Given the description of an element on the screen output the (x, y) to click on. 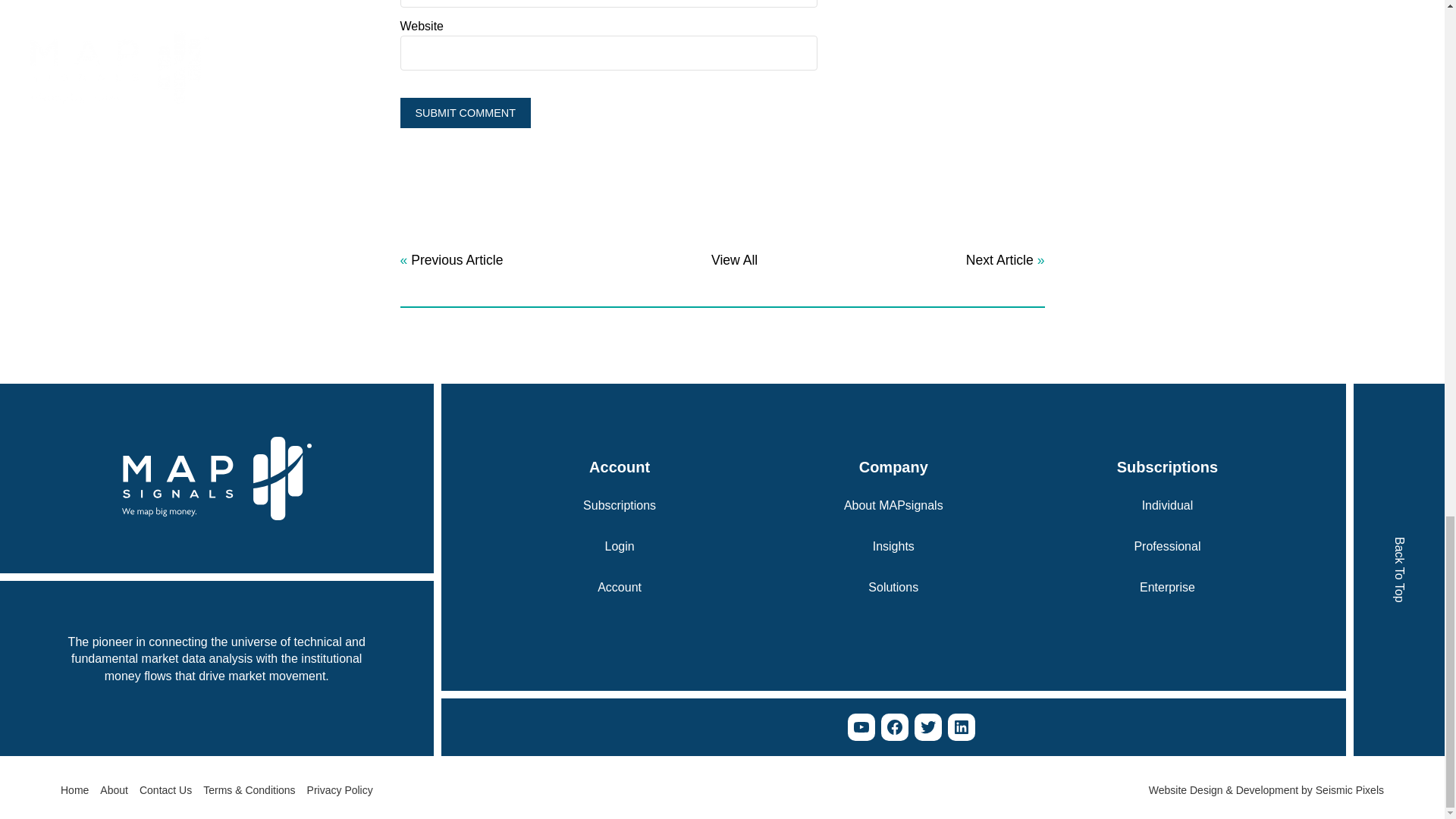
Subscriptions (619, 505)
Individual (1167, 505)
Submit Comment (465, 112)
View All (734, 260)
YouTube (861, 727)
Enterprise (1167, 587)
Login (619, 546)
Twitter (928, 727)
About MAPsignals (893, 505)
Submit Comment (465, 112)
Insights (893, 546)
Professional (1166, 546)
LinkedIn (961, 727)
Account (619, 587)
Facebook (894, 727)
